Given the description of an element on the screen output the (x, y) to click on. 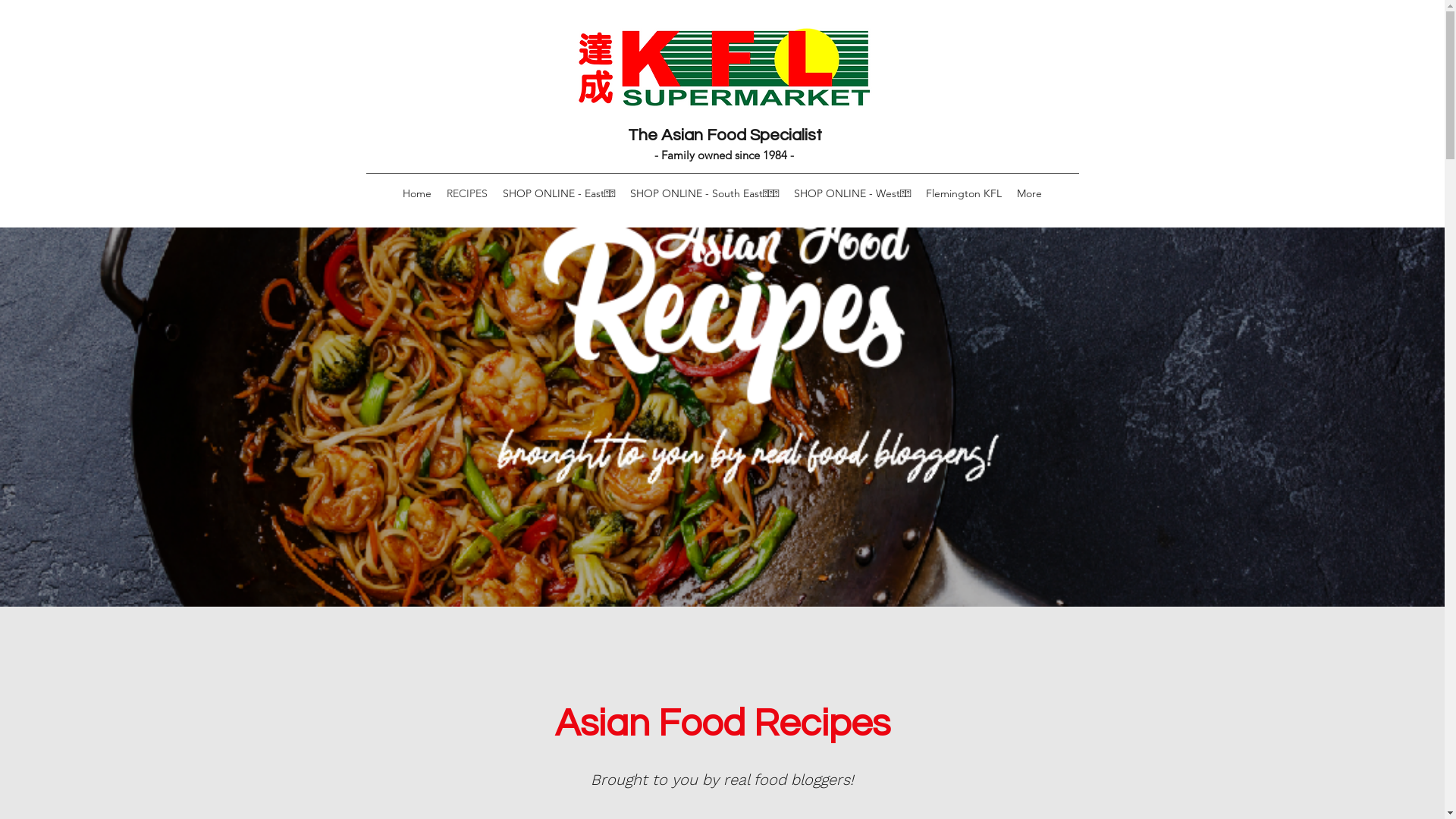
Flemington KFL Element type: text (963, 193)
RECIPES Element type: text (467, 193)
Home Element type: text (417, 193)
